Given the description of an element on the screen output the (x, y) to click on. 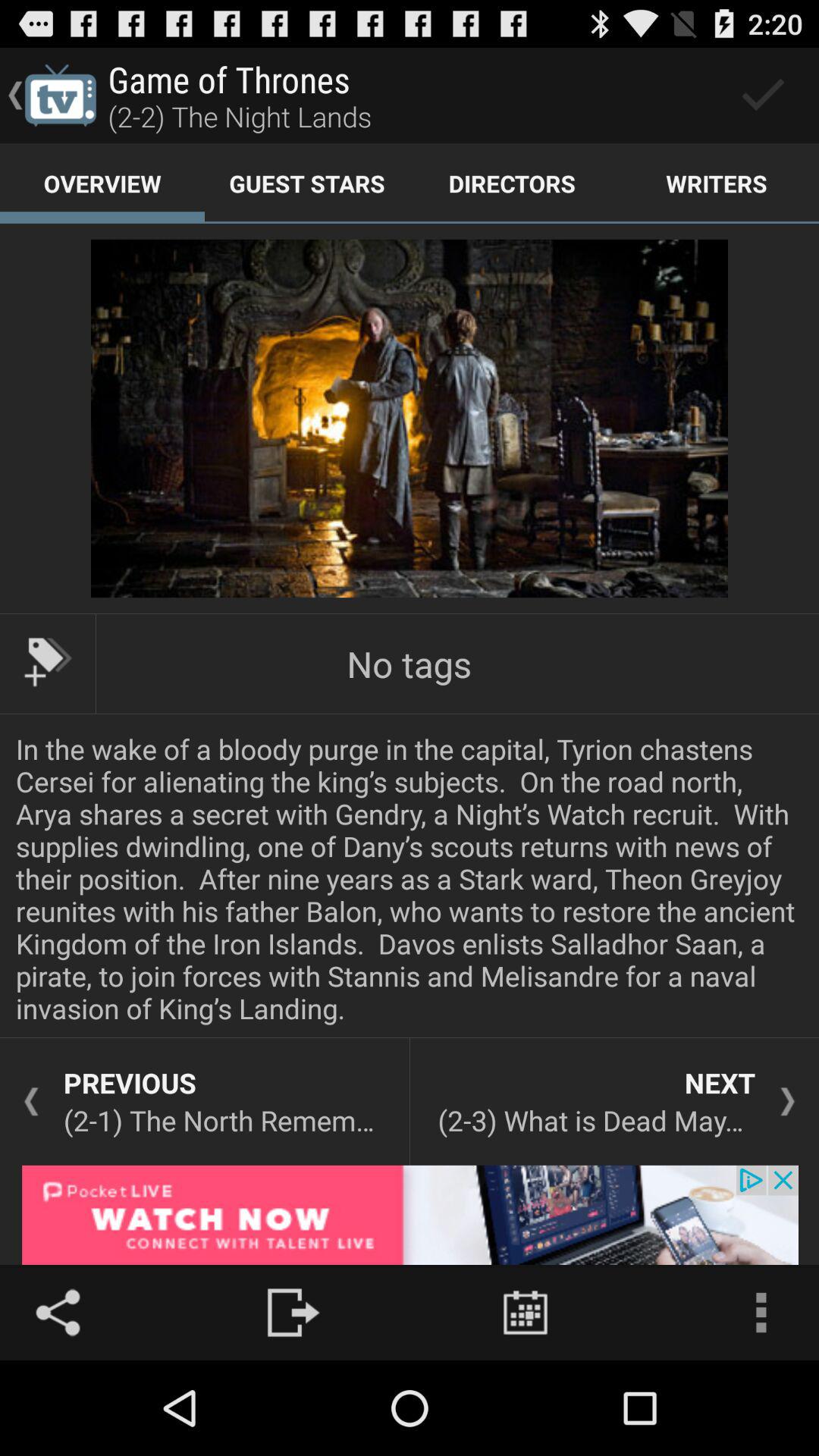
open advertisement (409, 1214)
